Given the description of an element on the screen output the (x, y) to click on. 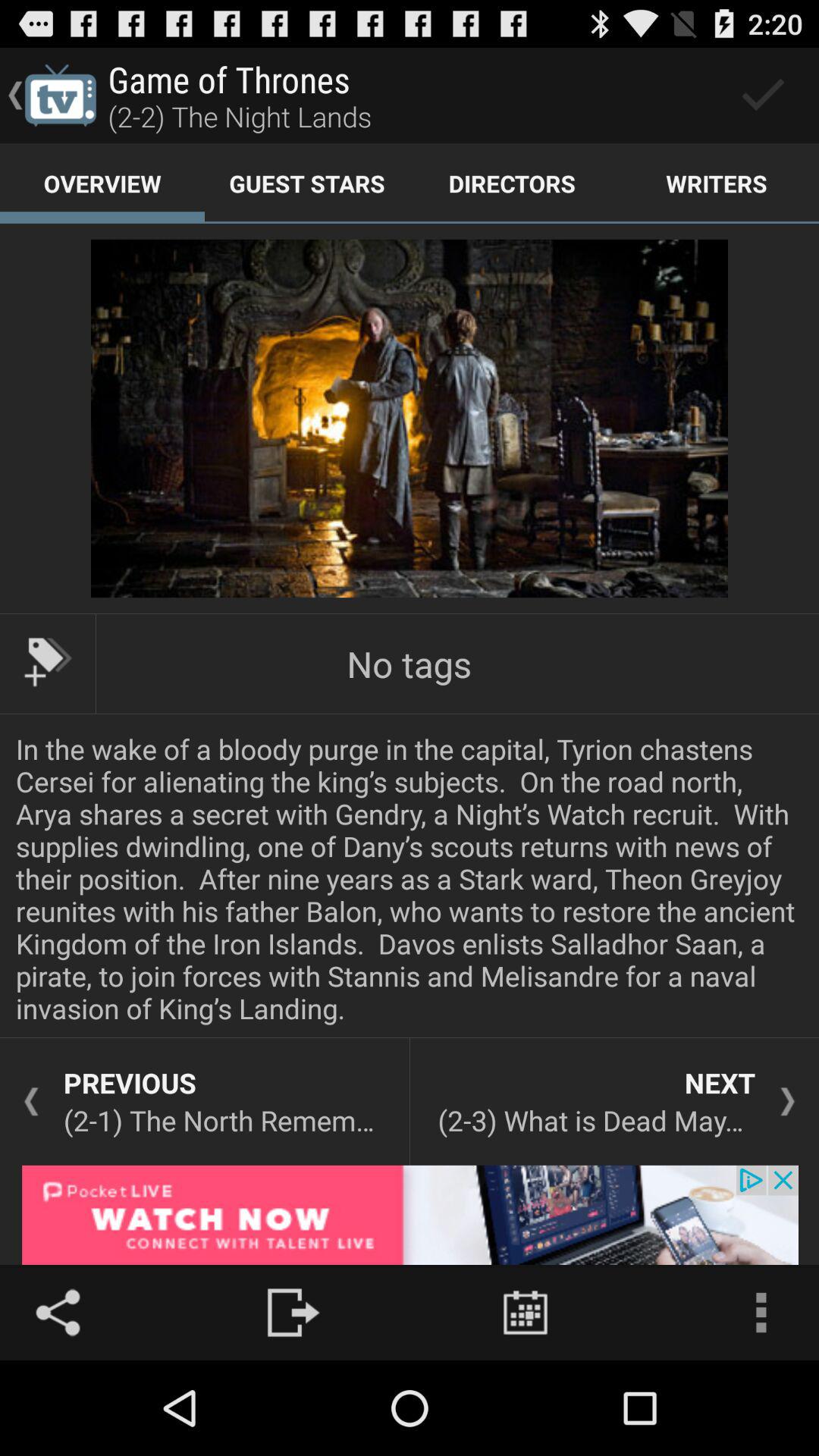
open advertisement (409, 1214)
